Given the description of an element on the screen output the (x, y) to click on. 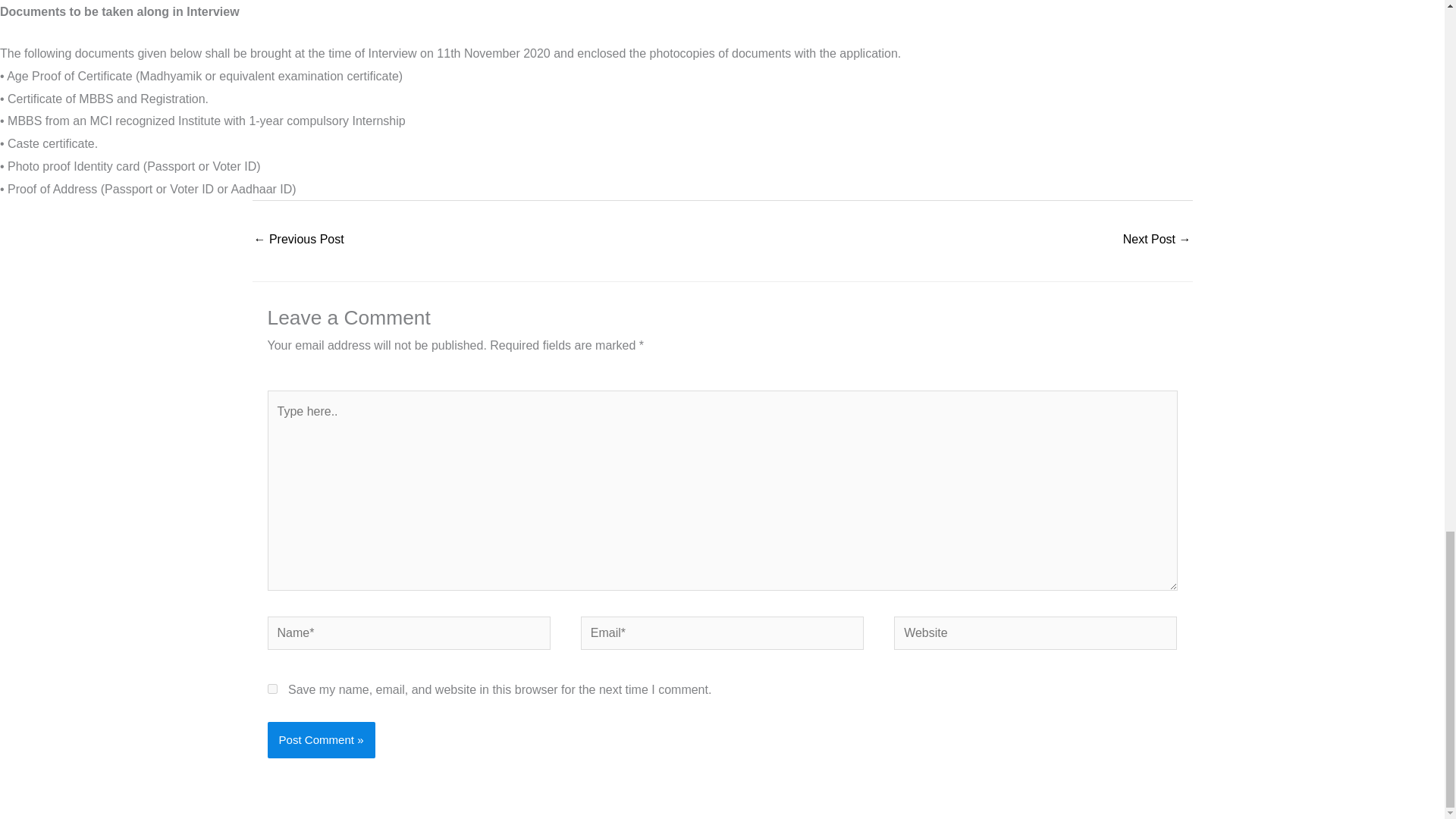
RRB NTPC ADMIT CARD (1156, 240)
yes (271, 688)
JK Bank PO Admit Card 2020 (298, 240)
